Given the description of an element on the screen output the (x, y) to click on. 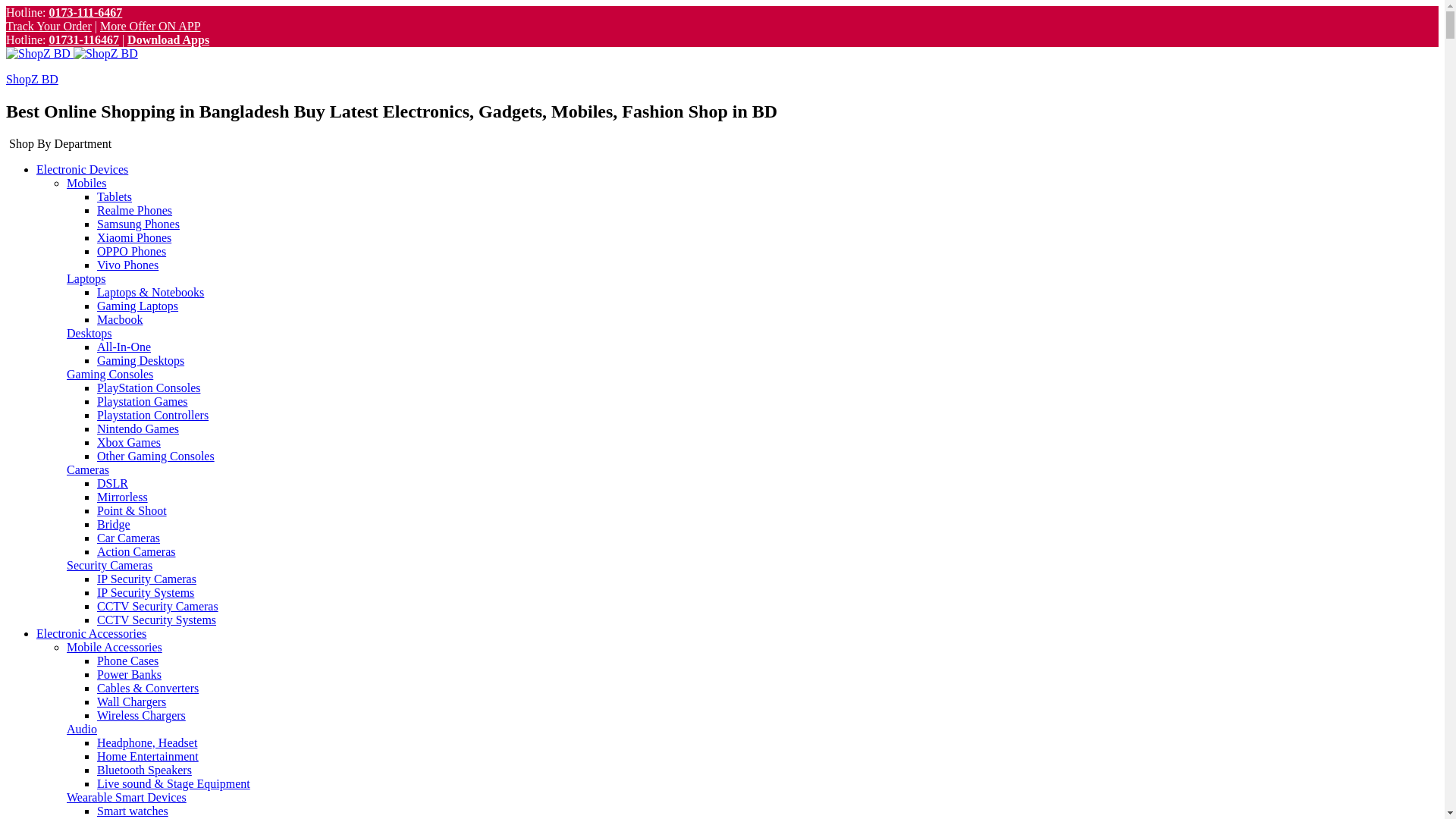
Mobile Accessories Element type: text (114, 646)
Gaming Desktops Element type: text (140, 360)
Cameras Element type: text (87, 469)
Playstation Games Element type: text (142, 401)
0173-111-6467 Element type: text (85, 12)
Download Apps Element type: text (168, 39)
Realme Phones Element type: text (134, 209)
All-In-One Element type: text (123, 346)
Nintendo Games Element type: text (137, 428)
Other Gaming Consoles Element type: text (155, 455)
More Offer ON APP Element type: text (150, 25)
Macbook Element type: text (119, 319)
ShopZ BD Element type: text (32, 78)
Point & Shoot Element type: text (131, 510)
Samsung Phones Element type: text (138, 223)
Audio Element type: text (81, 728)
Cables & Converters Element type: text (147, 687)
Xiaomi Phones Element type: text (134, 237)
Phone Cases Element type: text (127, 660)
Laptops & Notebooks Element type: text (150, 291)
Action Cameras Element type: text (136, 551)
Track Your Order Element type: text (48, 25)
DSLR Element type: text (112, 482)
Electronic Devices Element type: text (82, 169)
Xbox Games Element type: text (128, 442)
Mobiles Element type: text (86, 182)
Headphone, Headset Element type: text (147, 742)
Tablets Element type: text (114, 196)
Smart watches Element type: text (132, 810)
Security Cameras Element type: text (109, 564)
PlayStation Consoles Element type: text (148, 387)
IP Security Cameras Element type: text (146, 578)
Wireless Chargers Element type: text (141, 715)
Desktops Element type: text (89, 332)
Car Cameras Element type: text (128, 537)
Laptops Element type: text (86, 278)
CCTV Security Systems Element type: text (156, 619)
IP Security Systems Element type: text (145, 592)
Gaming Laptops Element type: text (137, 305)
CCTV Security Cameras Element type: text (157, 605)
Gaming Consoles Element type: text (109, 373)
OPPO Phones Element type: text (131, 250)
Electronic Accessories Element type: text (91, 633)
Power Banks Element type: text (129, 674)
01731-116467 Element type: text (83, 39)
Bluetooth Speakers Element type: text (144, 769)
Bridge Element type: text (113, 523)
Wearable Smart Devices Element type: text (126, 796)
Vivo Phones Element type: text (127, 264)
Home Entertainment Element type: text (147, 755)
Playstation Controllers Element type: text (152, 414)
Mirrorless Element type: text (122, 496)
Live sound & Stage Equipment Element type: text (173, 783)
Wall Chargers Element type: text (131, 701)
